Given the description of an element on the screen output the (x, y) to click on. 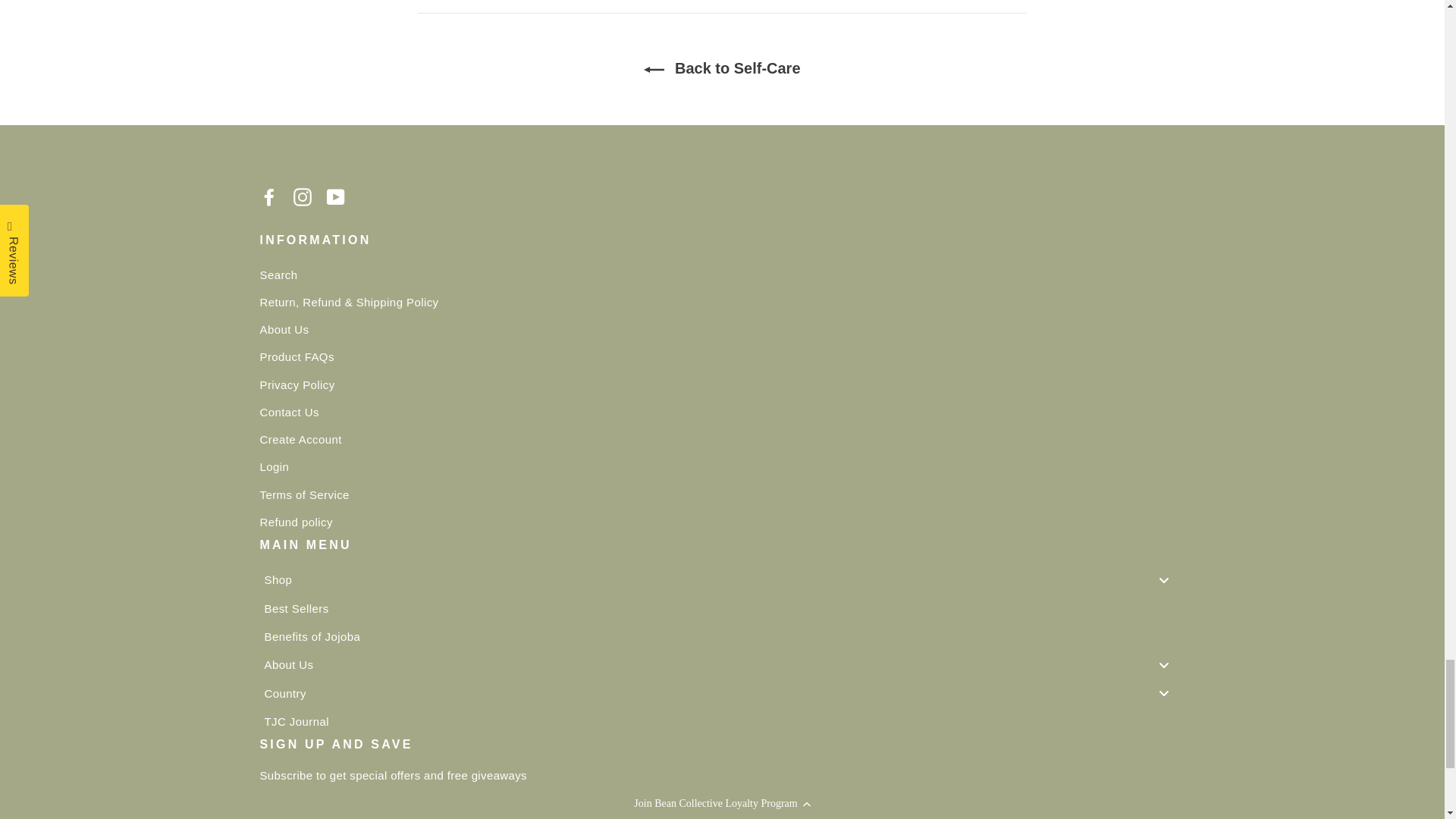
Toggle menu (1163, 664)
The jojoba Company UK on Instagram (302, 195)
Toggle menu (1163, 579)
